Given the description of an element on the screen output the (x, y) to click on. 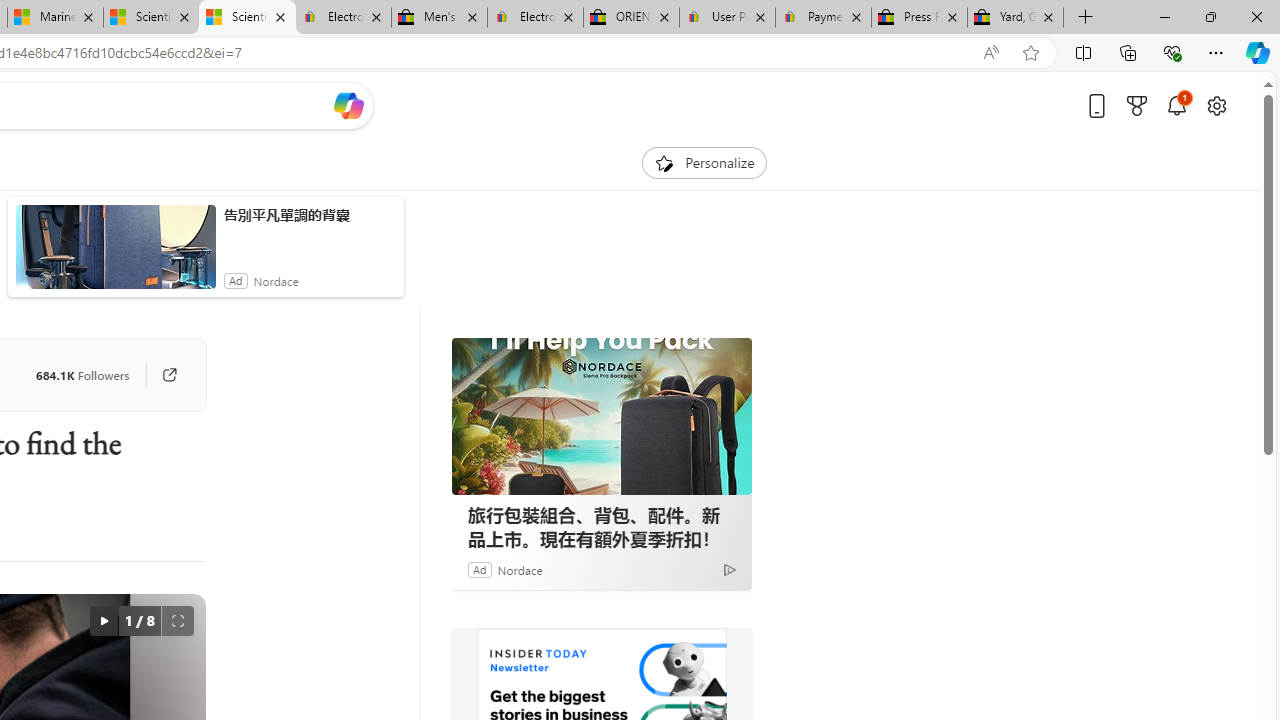
autorotate button (103, 620)
Full screen (177, 620)
Business Insider (478, 655)
anim-content (115, 255)
